Given the description of an element on the screen output the (x, y) to click on. 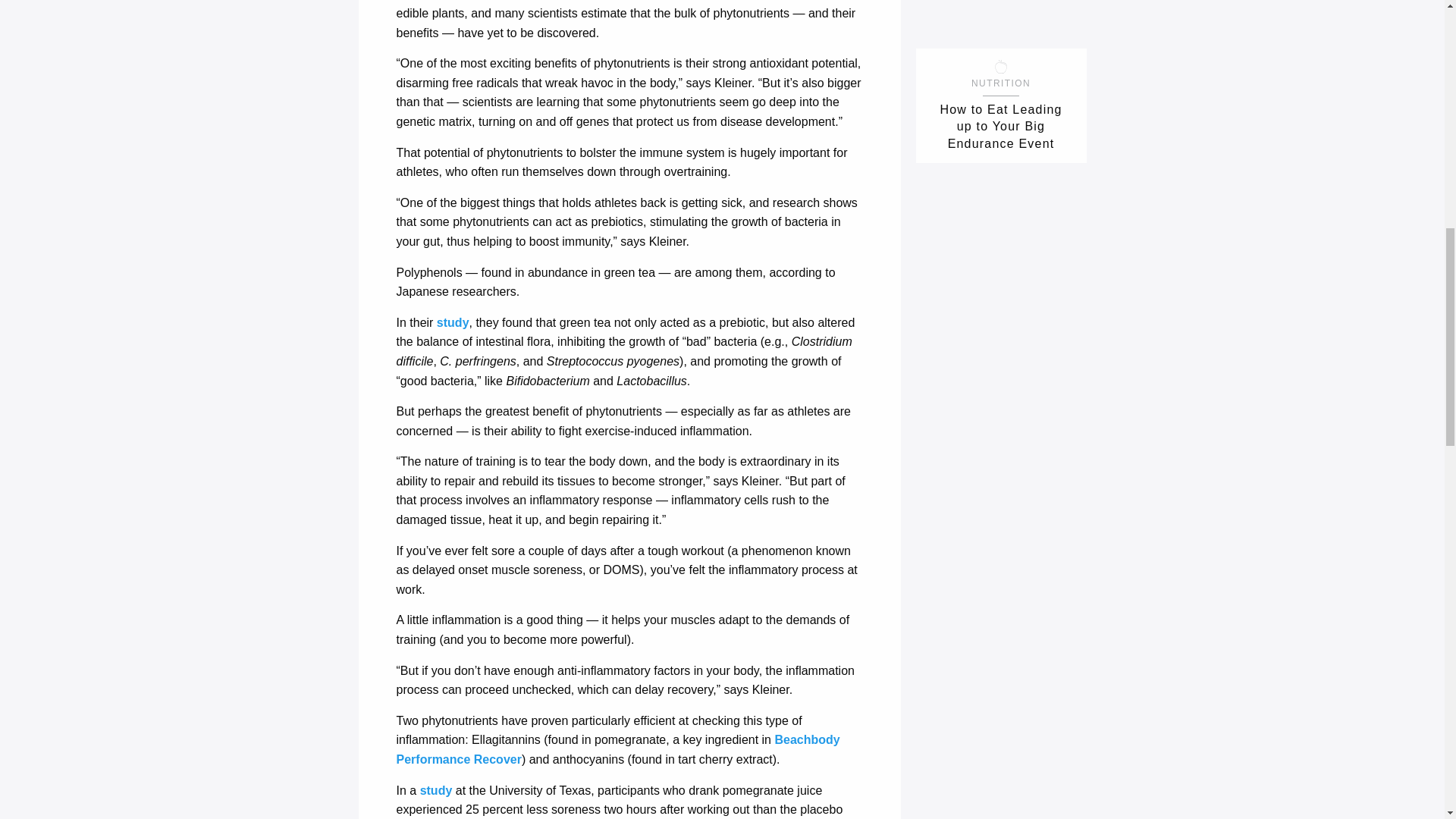
Effects of green tea consumption (452, 322)
Pomegranate juice and soreness (436, 789)
